Given the description of an element on the screen output the (x, y) to click on. 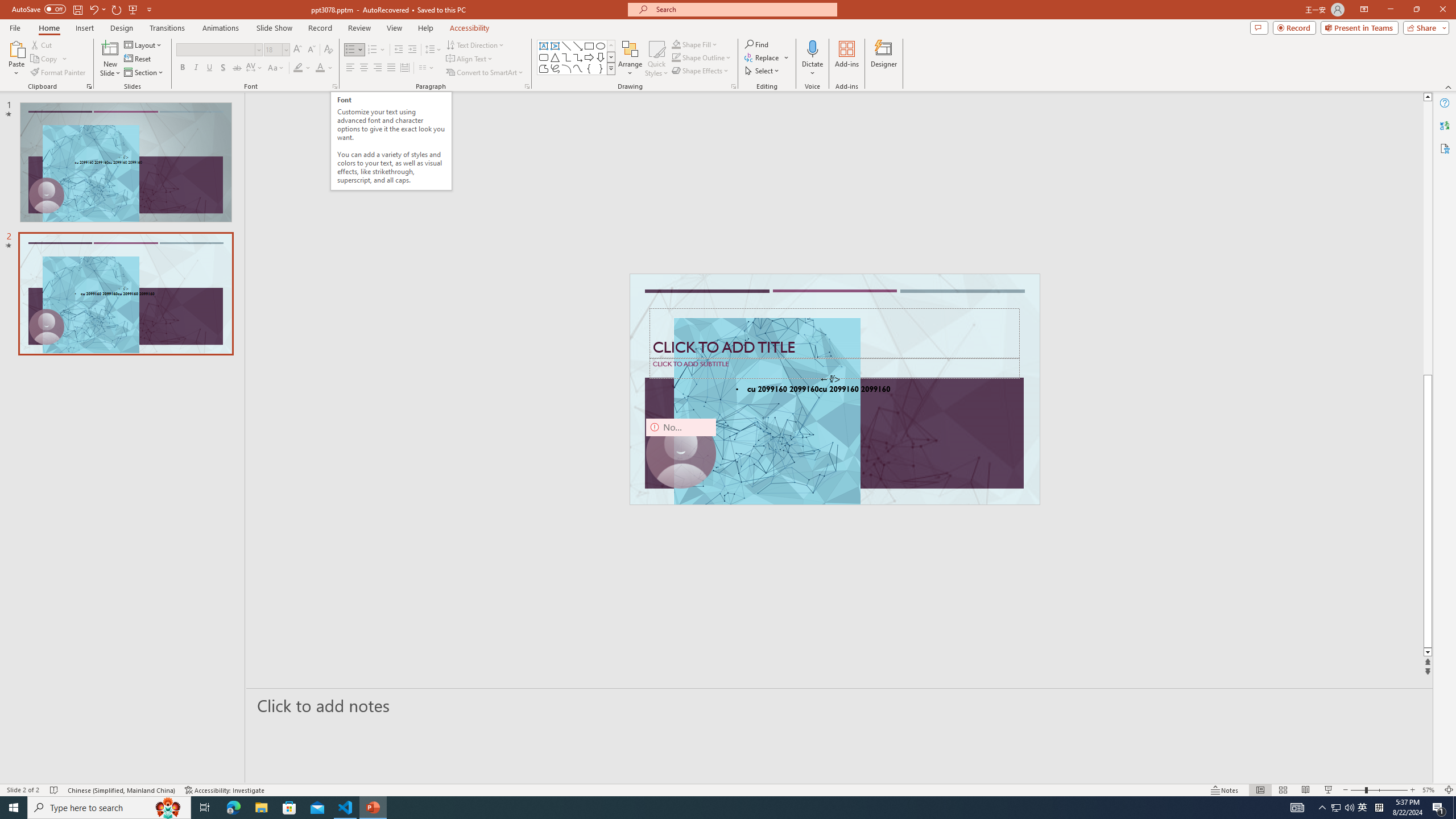
Freeform: Shape (543, 68)
Share (1423, 27)
Animations (220, 28)
Numbering (372, 49)
Present in Teams (1359, 27)
Microsoft search (742, 9)
Open (285, 49)
Spell Check No Errors (54, 790)
Select (762, 69)
Left Brace (589, 68)
Zoom Out (1358, 790)
Rectangle: Rounded Corners (543, 57)
Camera 9, No camera detected. (681, 453)
Reading View (1305, 790)
Transitions (167, 28)
